Given the description of an element on the screen output the (x, y) to click on. 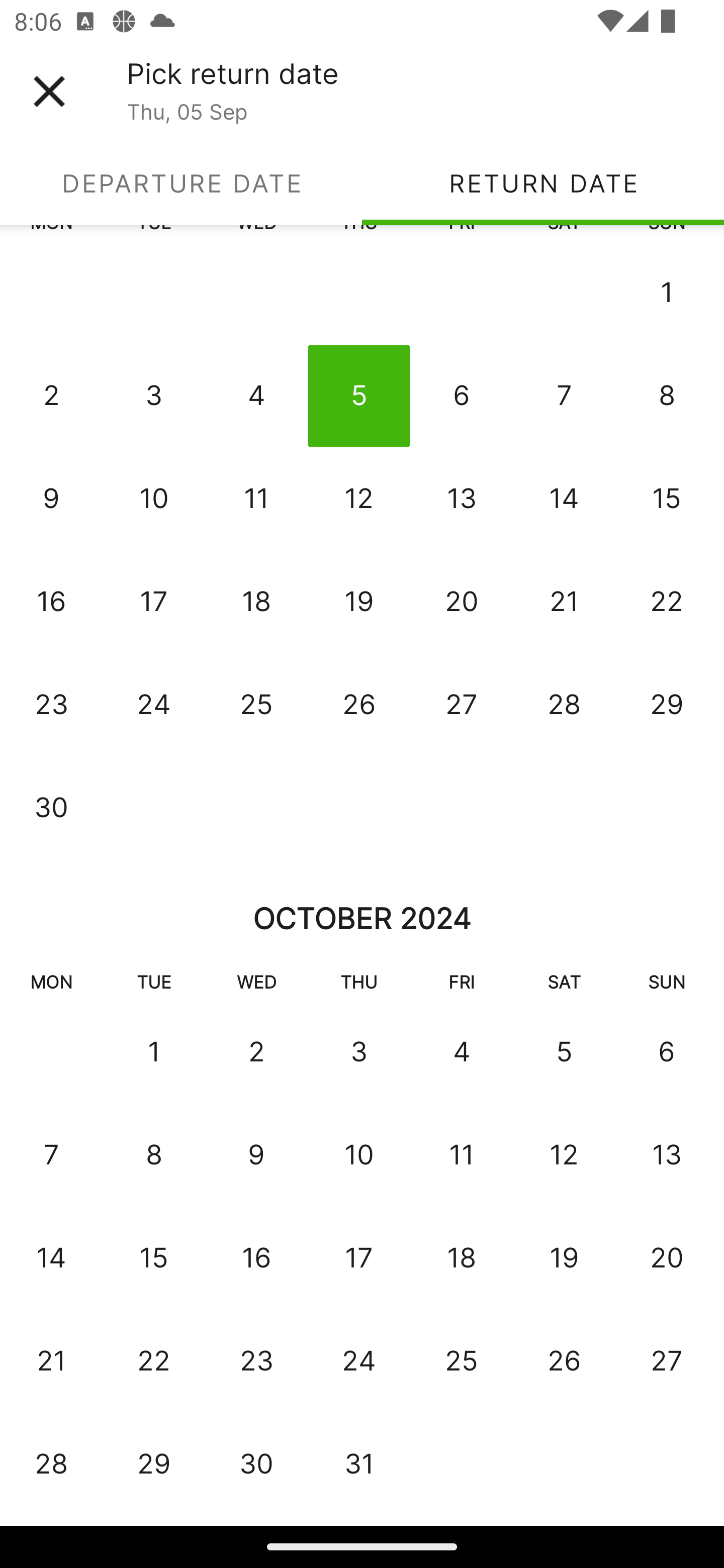
Departure Date DEPARTURE DATE (181, 183)
